Given the description of an element on the screen output the (x, y) to click on. 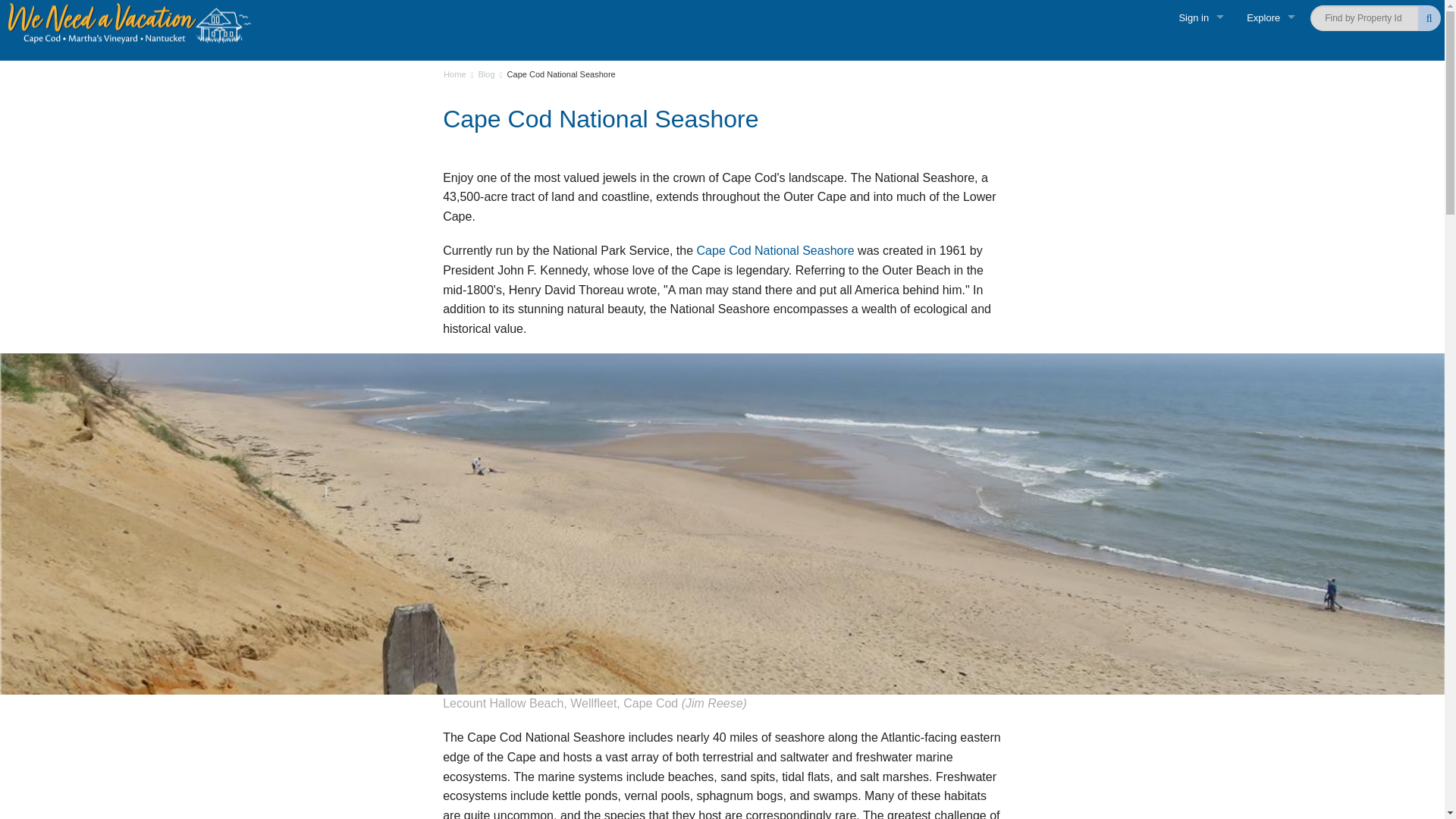
Cape Cod National Seashore (555, 74)
Blog (480, 74)
Events (1270, 347)
Martha's Vineyard Rentals (1270, 109)
Nantucket Rentals (1270, 145)
Home (454, 74)
Beaches (1270, 310)
Green Initiative (1270, 218)
Cape Cod National Seashore (778, 250)
Vacationer login (1200, 54)
Vacation Planner (1270, 274)
Business login (1200, 126)
Owner login (1200, 90)
Blog (1270, 383)
Cape Cod Rentals (1270, 73)
